Given the description of an element on the screen output the (x, y) to click on. 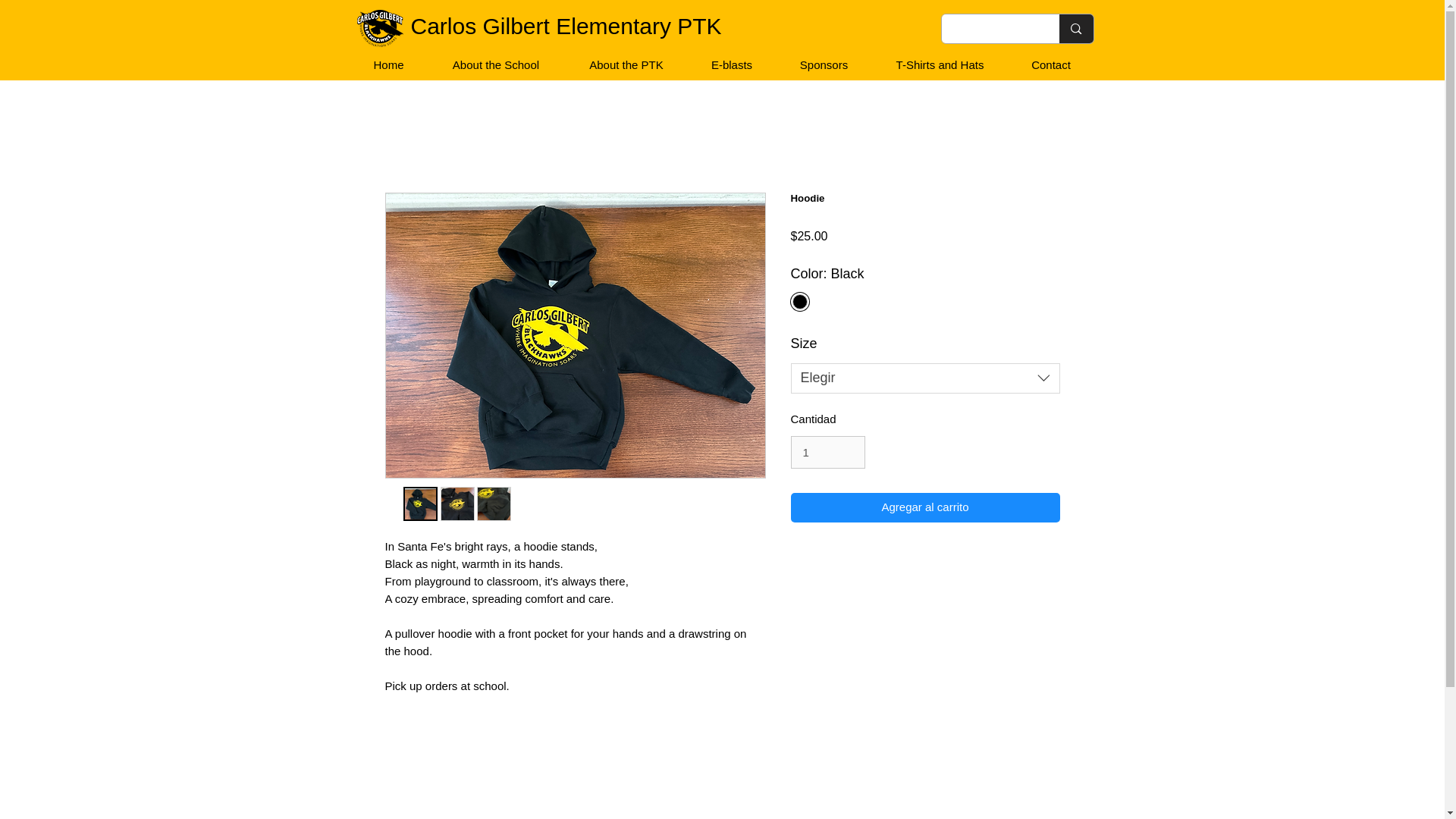
1 (827, 452)
E-blasts (730, 64)
About the PTK (625, 64)
Contact (1050, 64)
Agregar al carrito (924, 507)
Carlos Gilbert Elementary PTK (566, 25)
About the School (495, 64)
T-Shirts and Hats (939, 64)
Sponsors (822, 64)
Elegir (924, 377)
